Given the description of an element on the screen output the (x, y) to click on. 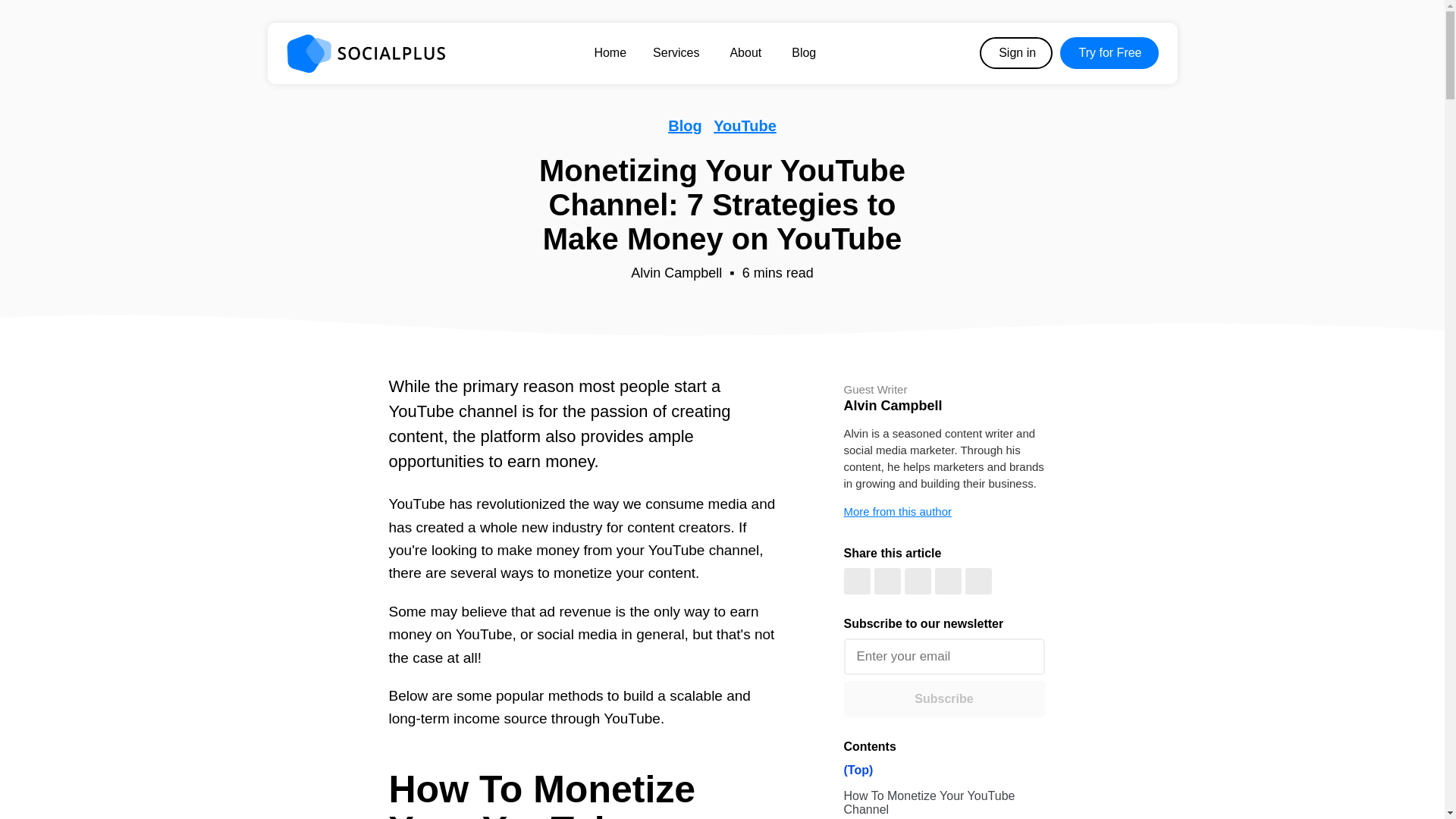
Sign in (1015, 52)
Blog (803, 51)
About (747, 52)
Services (677, 52)
Share on Email (977, 581)
Share on Facebook (856, 581)
Share on Reddit (947, 581)
Try for Free (1108, 52)
How To Monetize Your YouTube Channel (943, 800)
YouTube (744, 125)
Blog (684, 125)
Share on Twitter (886, 581)
Alvin Campbell (676, 272)
Home (610, 51)
Share on LinkedIn (917, 581)
